Given the description of an element on the screen output the (x, y) to click on. 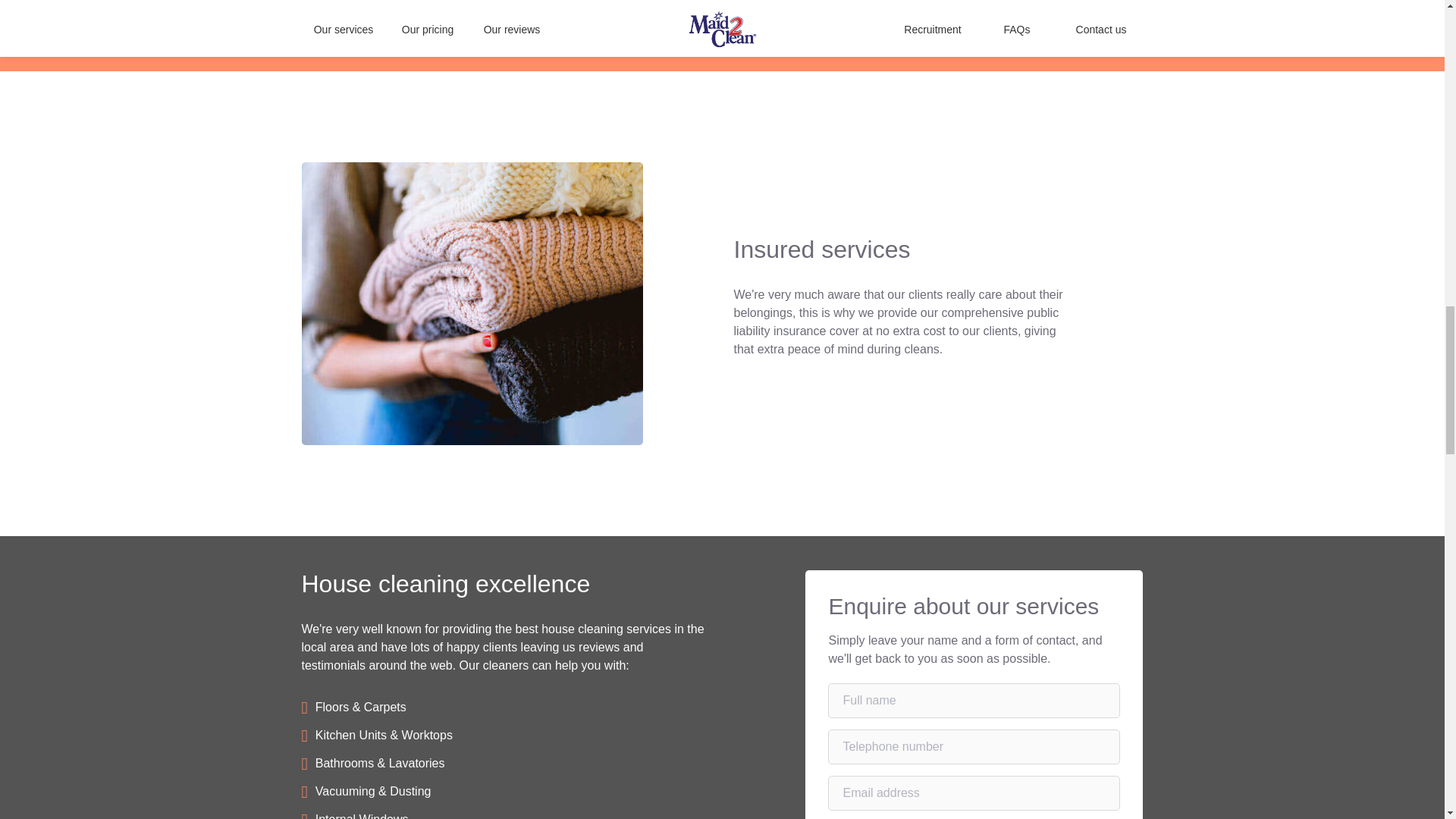
Book online (721, 1)
